Given the description of an element on the screen output the (x, y) to click on. 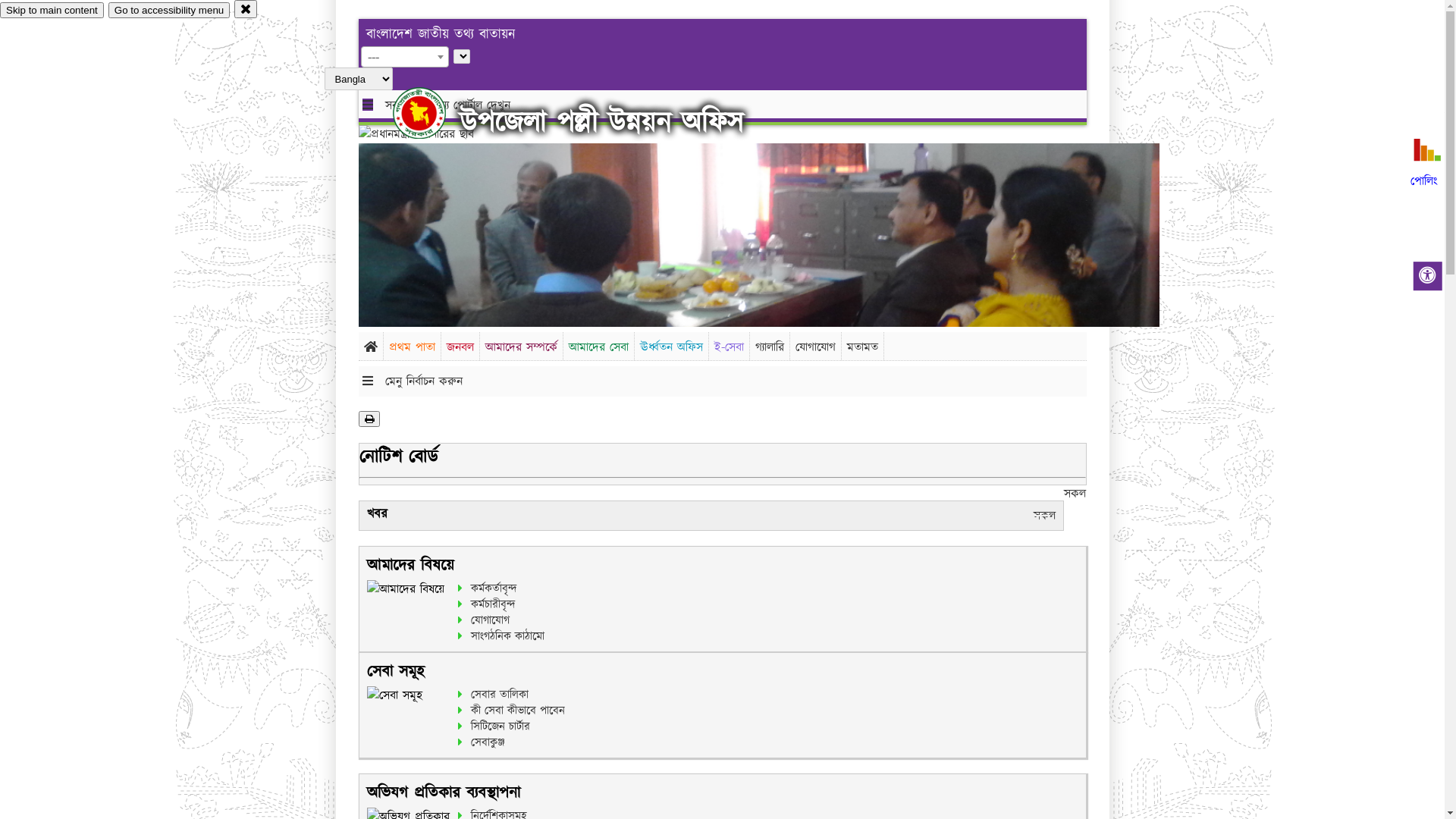

                
             Element type: hover (431, 112)
close Element type: hover (245, 9)
Skip to main content Element type: text (51, 10)
Go to accessibility menu Element type: text (168, 10)
